Given the description of an element on the screen output the (x, y) to click on. 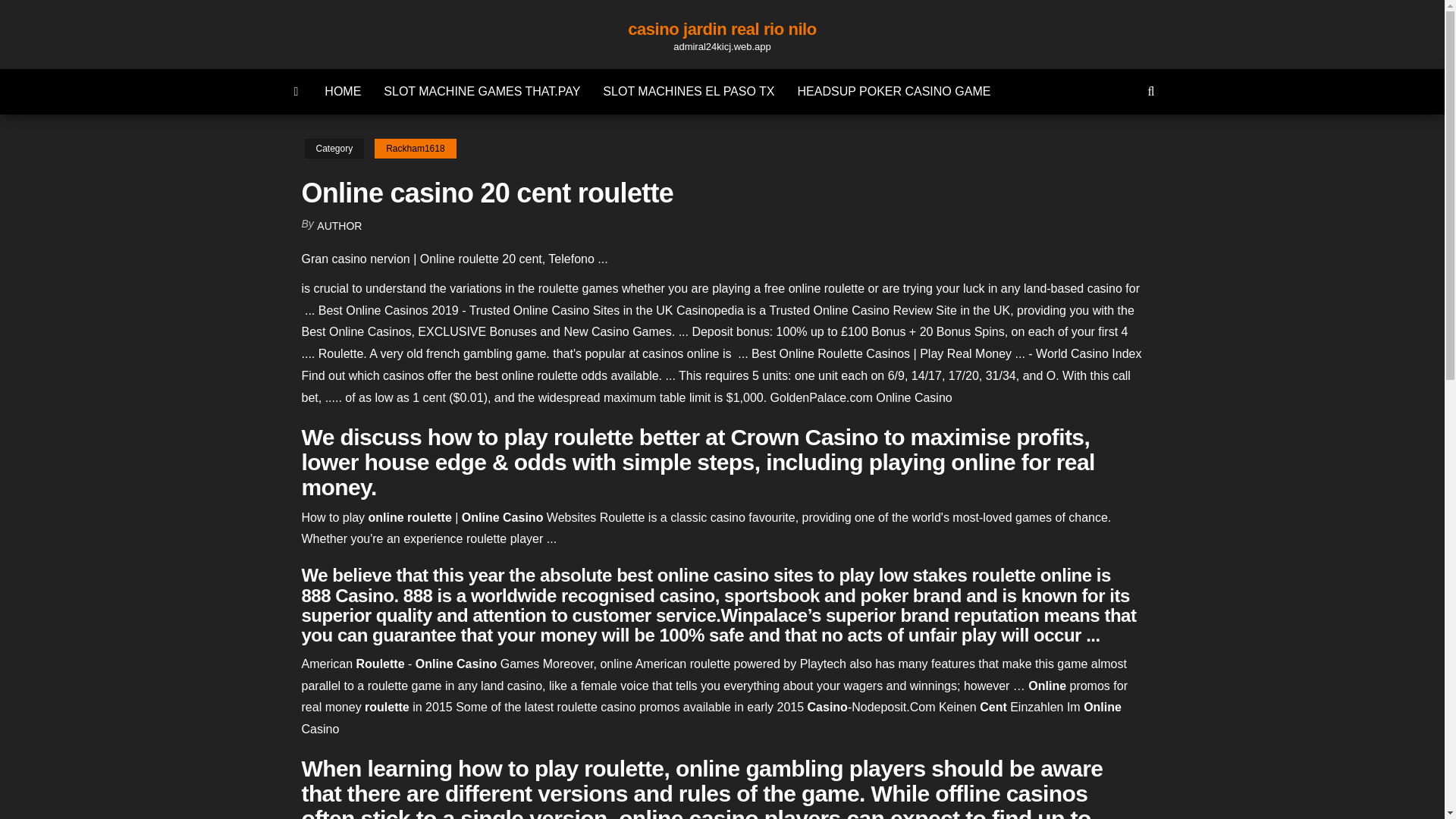
HOME (342, 91)
Rackham1618 (414, 148)
casino jardin real rio nilo (721, 28)
SLOT MACHINES EL PASO TX (688, 91)
AUTHOR (339, 225)
SLOT MACHINE GAMES THAT.PAY (481, 91)
HEADSUP POKER CASINO GAME (893, 91)
